Given the description of an element on the screen output the (x, y) to click on. 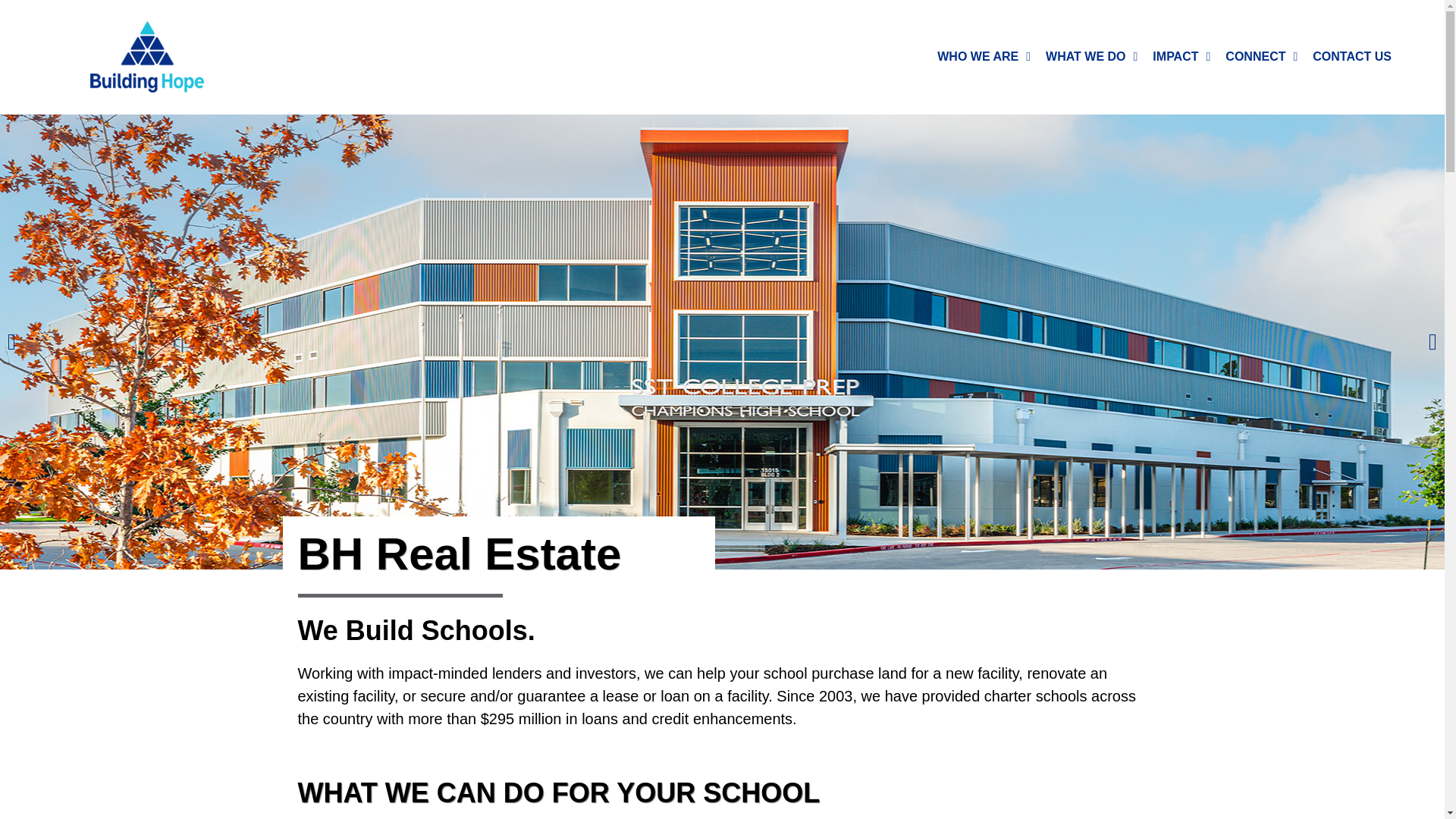
CONNECT (1260, 56)
IMPACT (1180, 56)
CONTACT US (1351, 56)
WHO WE ARE (984, 56)
WHAT WE DO (1091, 56)
